Given the description of an element on the screen output the (x, y) to click on. 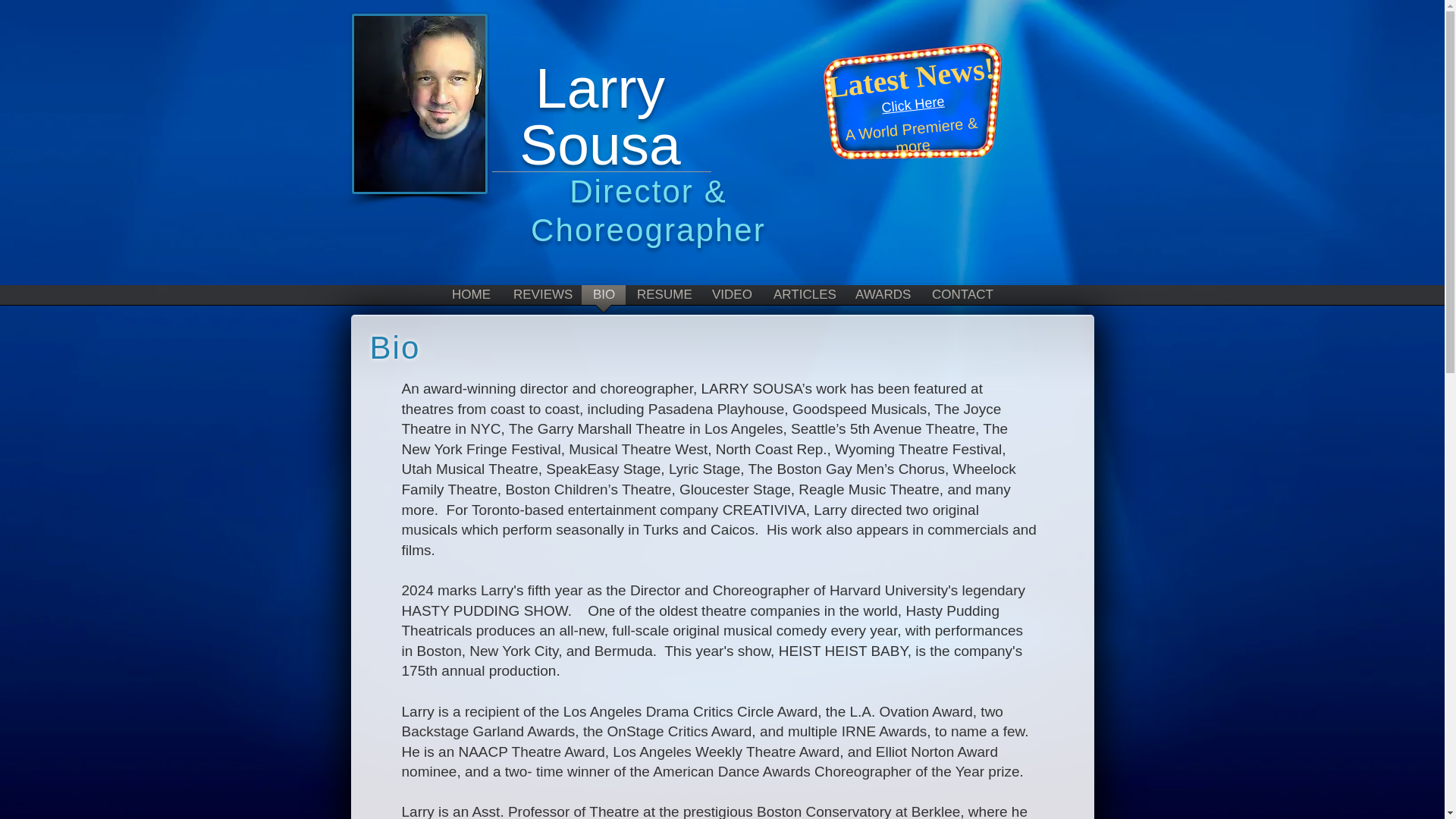
REVIEWS (541, 299)
VIDEO (730, 299)
Click Here (911, 101)
ARTICLES (802, 299)
HOME (471, 299)
AWARDS (882, 299)
RESUME (663, 299)
CONTACT (962, 299)
BIO (603, 299)
